Given the description of an element on the screen output the (x, y) to click on. 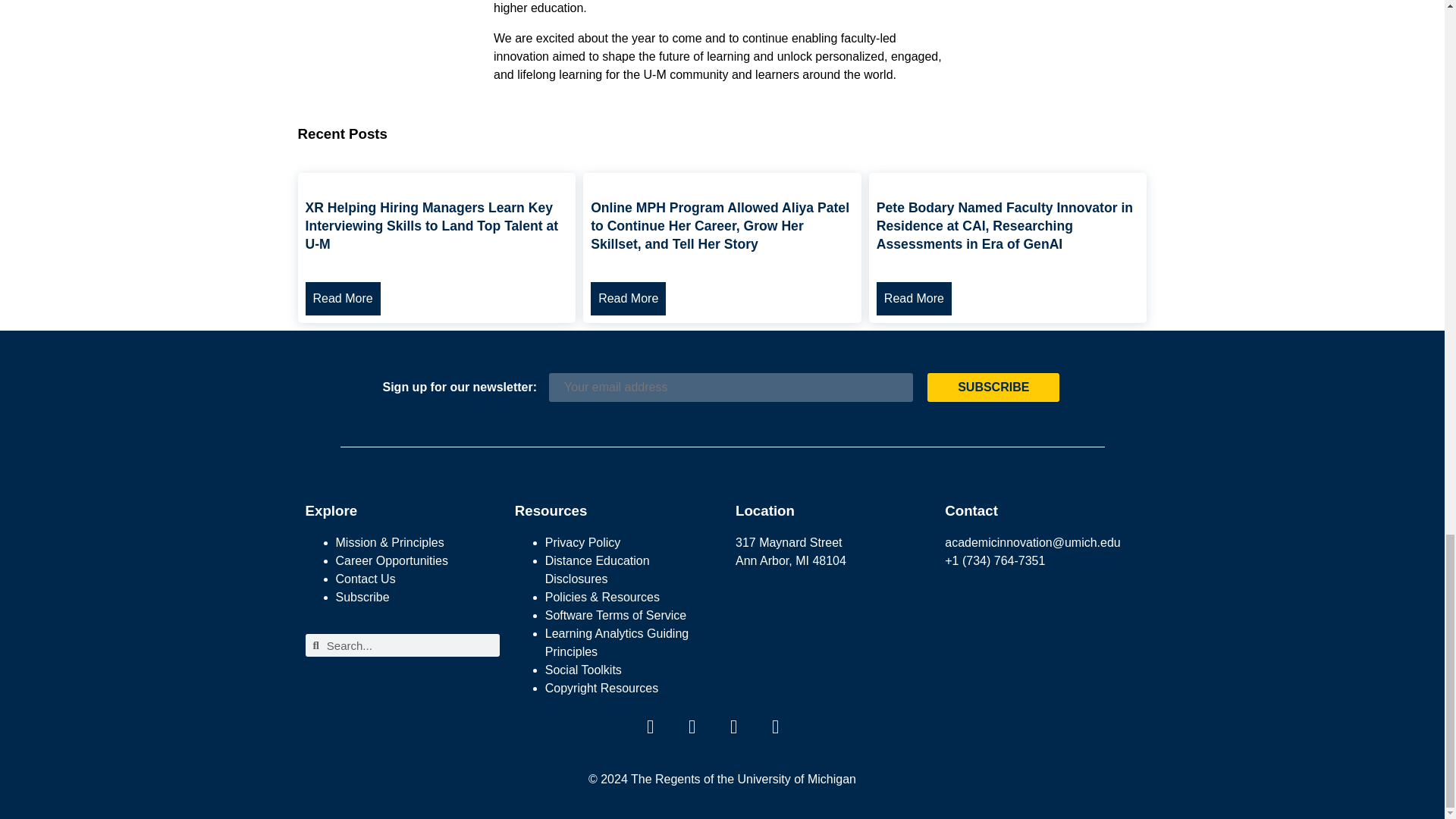
Subscribe (993, 387)
